Given the description of an element on the screen output the (x, y) to click on. 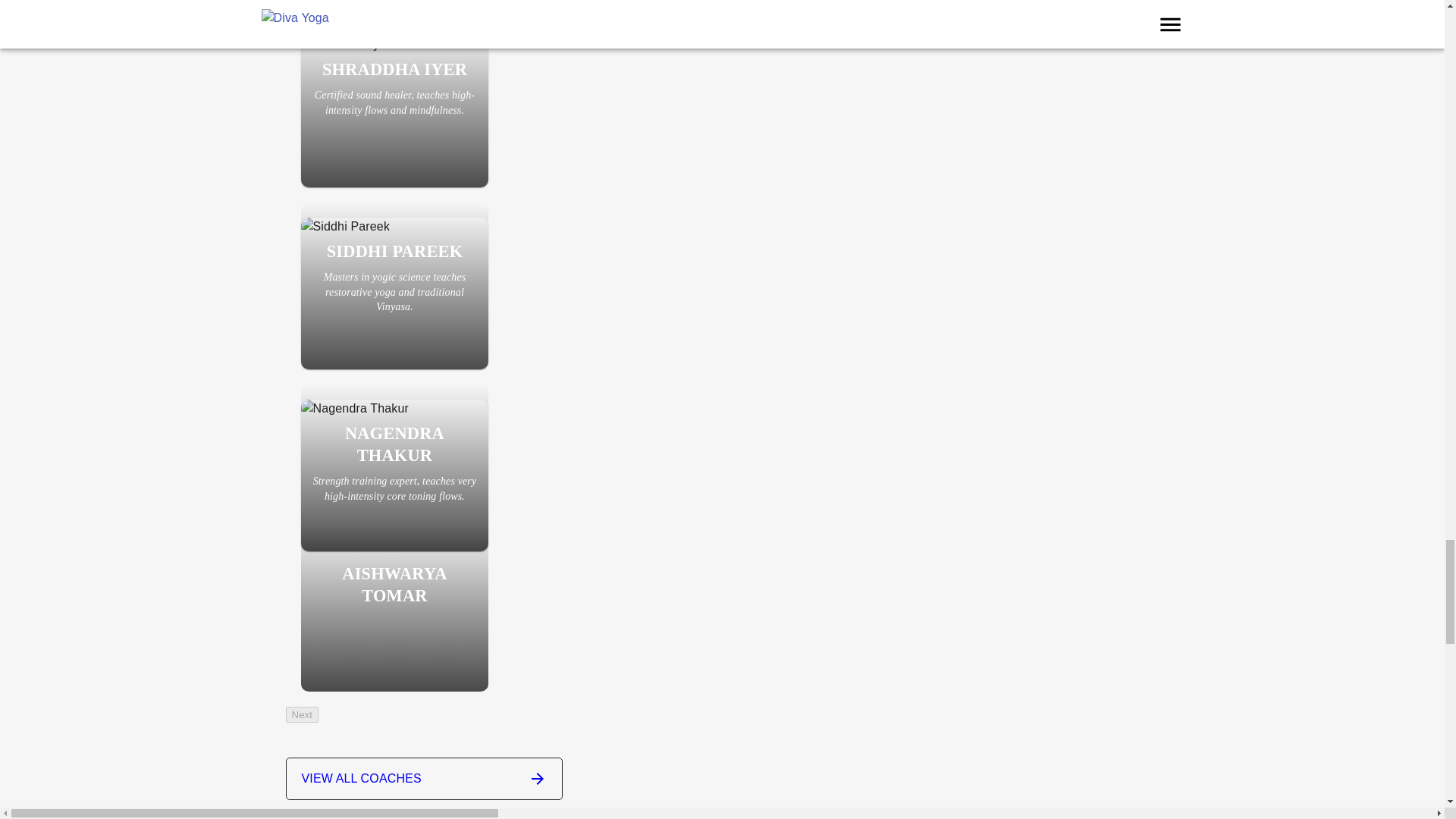
Next (301, 714)
VIEW ALL COACHES (423, 778)
